Given the description of an element on the screen output the (x, y) to click on. 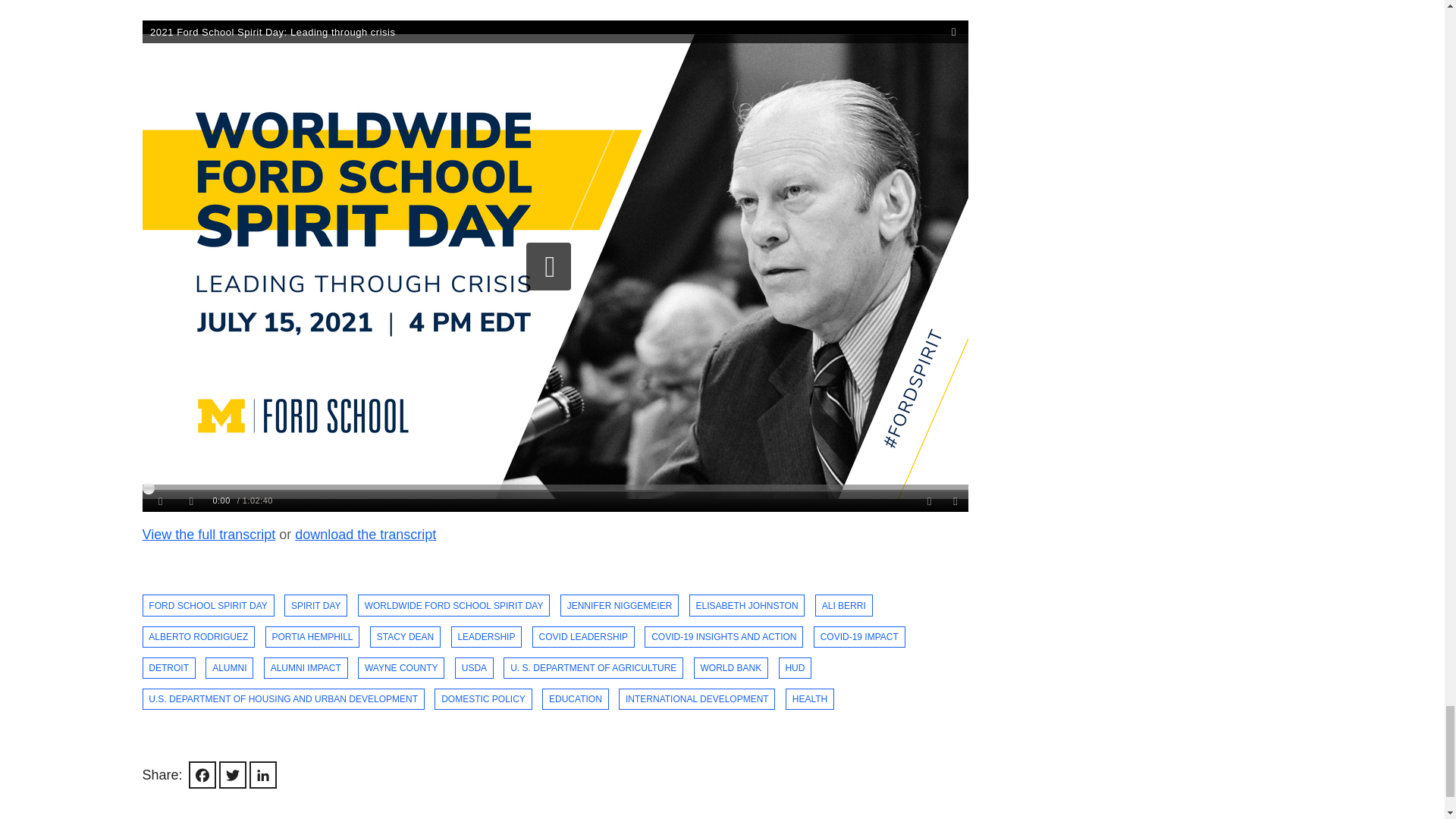
ALBERTO RODRIGUEZ (199, 643)
ALI BERRI (843, 614)
STACY DEAN (405, 640)
COVID LEADERSHIP (583, 639)
USDA (473, 667)
WAYNE COUNTY (401, 667)
LEADERSHIP (486, 639)
View the full transcript (209, 566)
ALUMNI (229, 667)
COVID-19 INSIGHTS AND ACTION (724, 638)
DETROIT (168, 668)
COVID-19 IMPACT (859, 637)
WORLDWIDE FORD SCHOOL SPIRIT DAY (454, 621)
JENNIFER NIGGEMEIER (619, 619)
PORTIA HEMPHILL (311, 640)
